Given the description of an element on the screen output the (x, y) to click on. 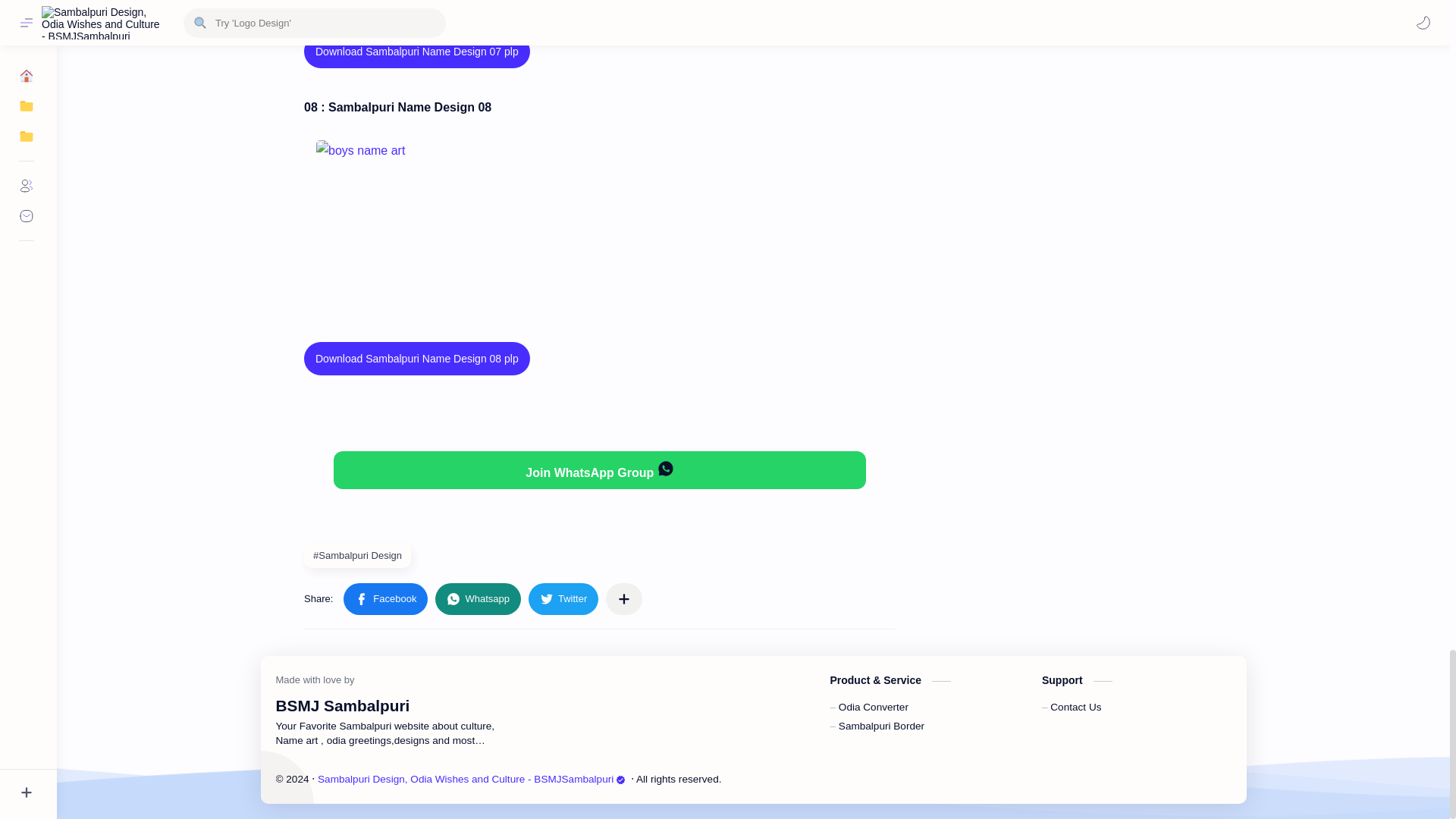
boys name art (391, 215)
